Given the description of an element on the screen output the (x, y) to click on. 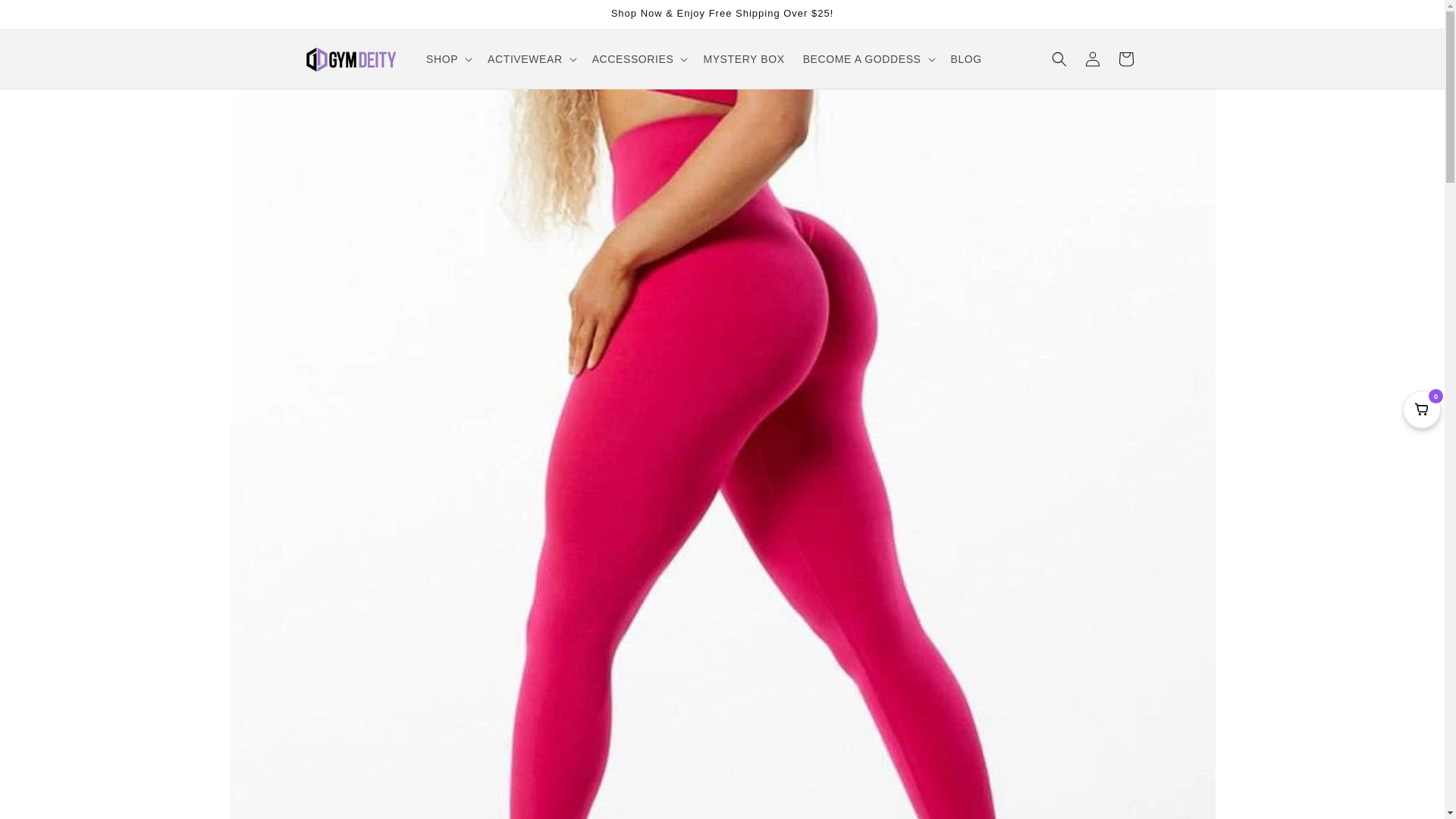
Skip to content (45, 17)
